Given the description of an element on the screen output the (x, y) to click on. 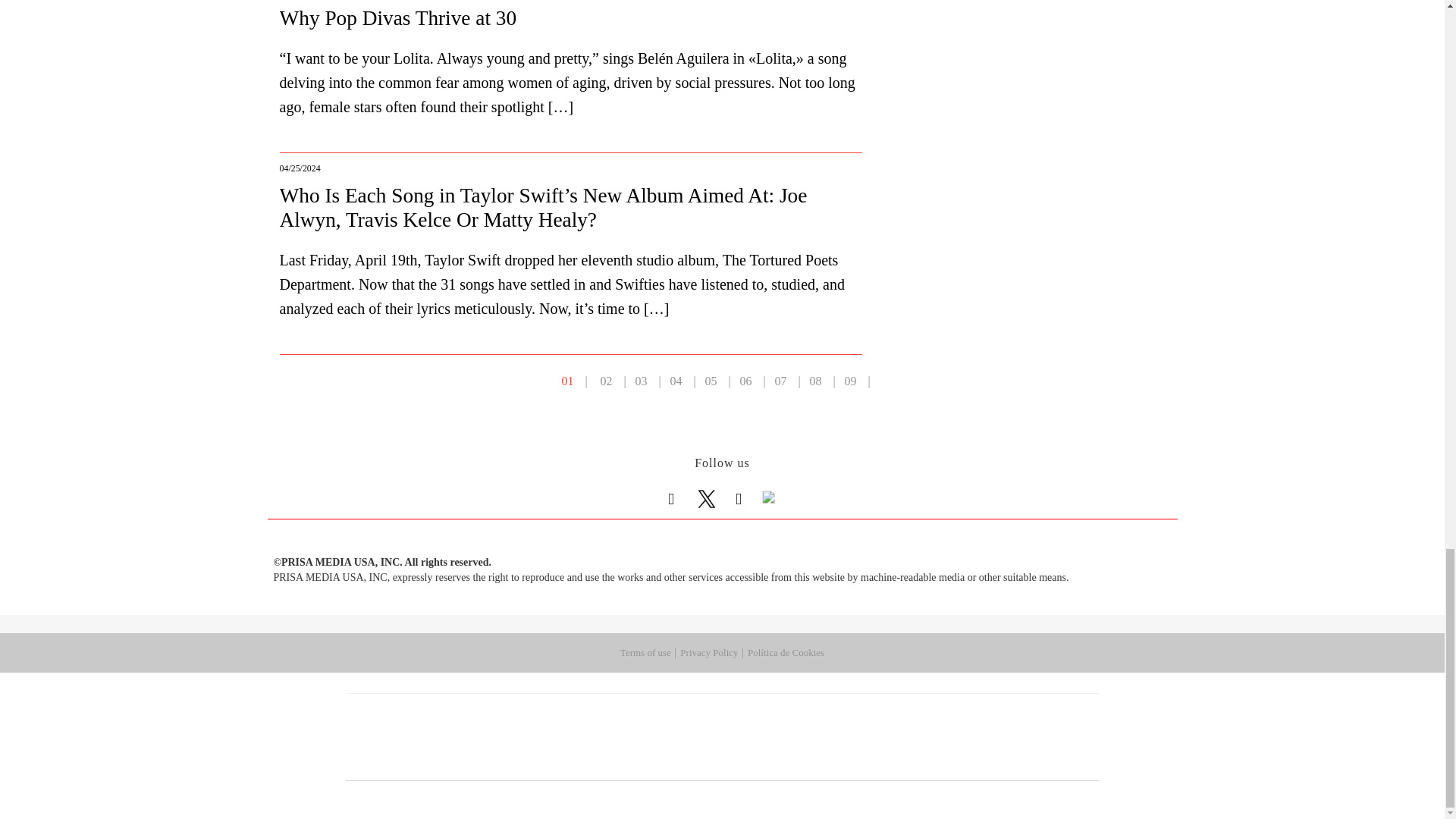
Ir a la web de AS (885, 714)
Ir a la web de wradio (696, 737)
Ir a la web de Kebuena (978, 737)
Ir a la web de Los 40 (620, 714)
Ir a la web del Grupo Prisa (413, 726)
Ir a la web de Santillana Compartir (772, 714)
05 (710, 380)
Ir a la web de Santillana (691, 714)
04 (675, 380)
Ir a la web de ADN (935, 714)
